Given the description of an element on the screen output the (x, y) to click on. 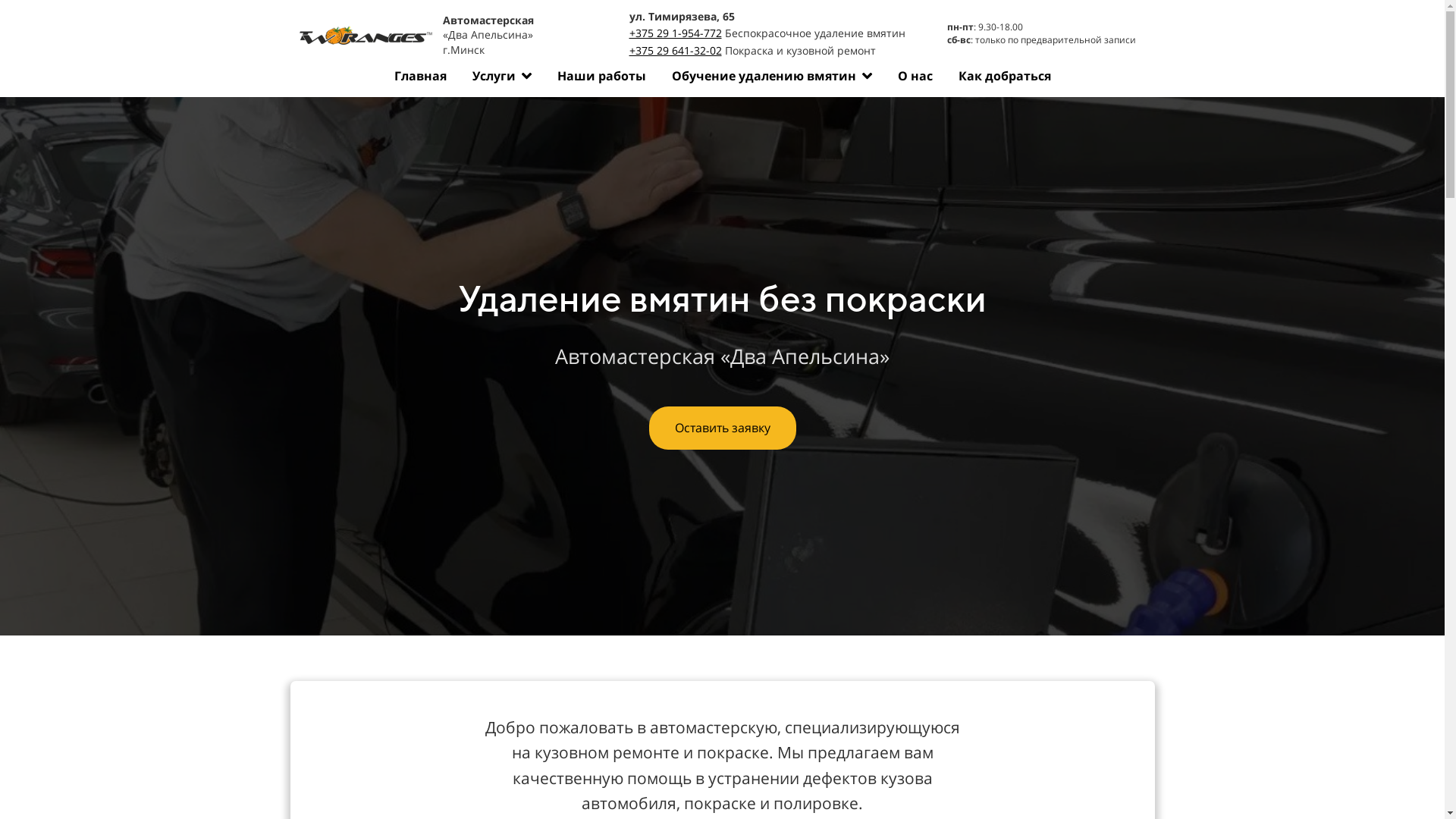
+375 29 1-954-772 Element type: text (675, 32)
+375 29 641-32-02 Element type: text (675, 50)
